Given the description of an element on the screen output the (x, y) to click on. 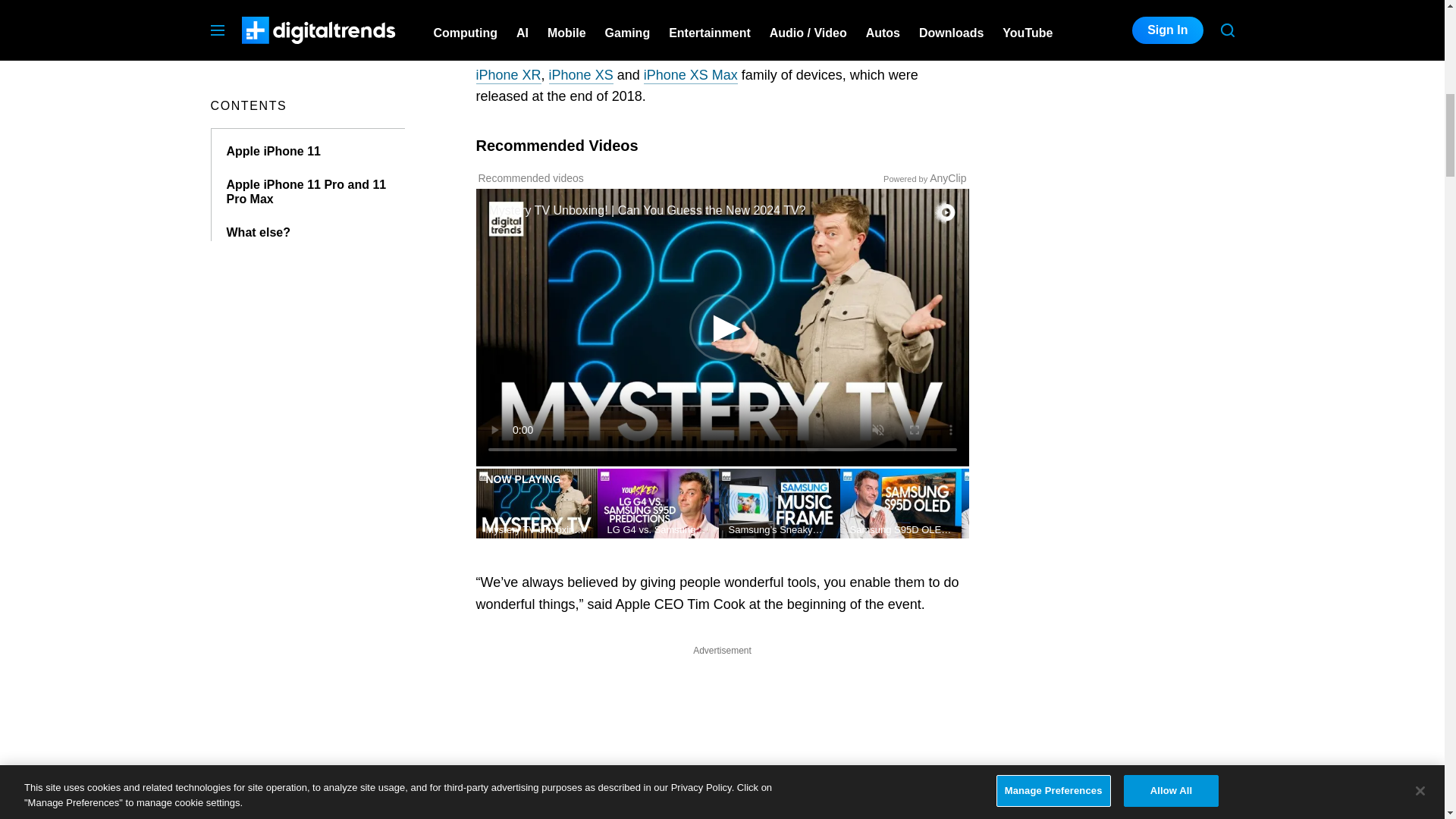
Play Video (721, 327)
